Given the description of an element on the screen output the (x, y) to click on. 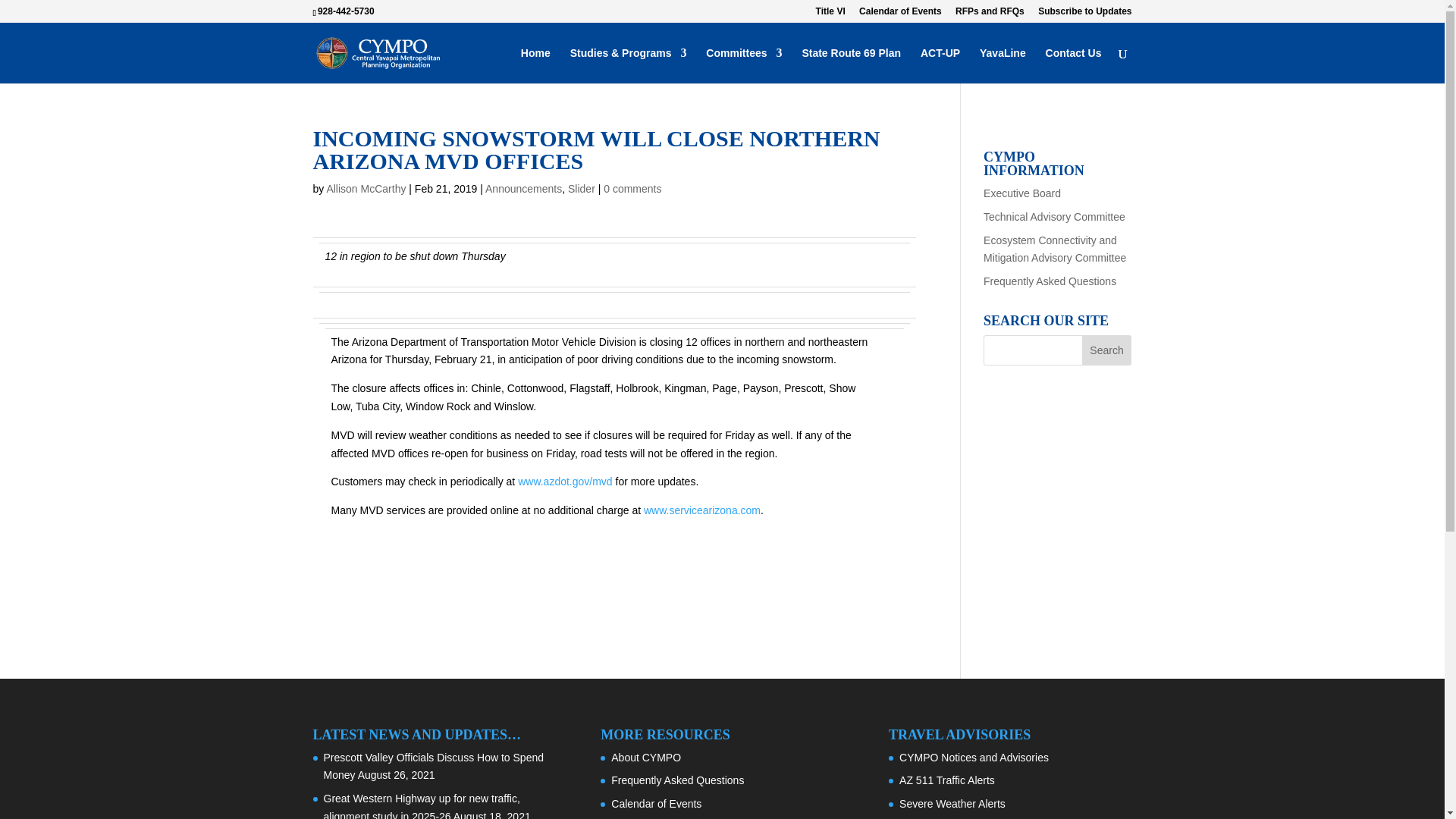
Calendar of Events (900, 14)
Technical Advisory Committee (1054, 216)
Search (1106, 349)
Subscribe to Updates (1084, 14)
www.servicearizona.com (701, 510)
Allison McCarthy (366, 188)
Search (1106, 349)
RFPs and RFQs (990, 14)
About CYMPO (646, 757)
Announcements (523, 188)
Posts by Allison McCarthy (366, 188)
Home (535, 65)
Slider (581, 188)
Frequently Asked Questions (1050, 281)
Title VI (830, 14)
